Given the description of an element on the screen output the (x, y) to click on. 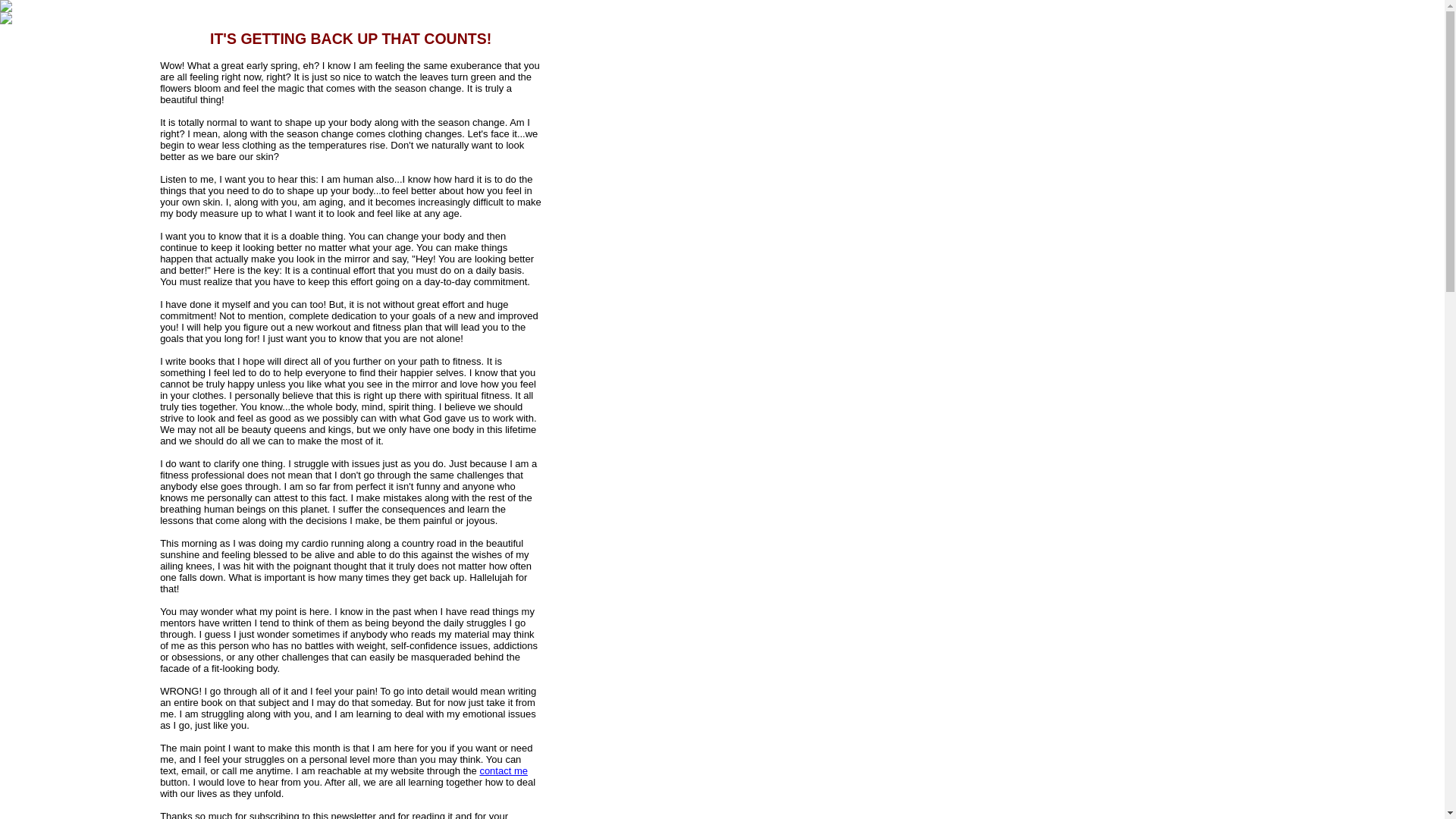
contact me (503, 770)
